Given the description of an element on the screen output the (x, y) to click on. 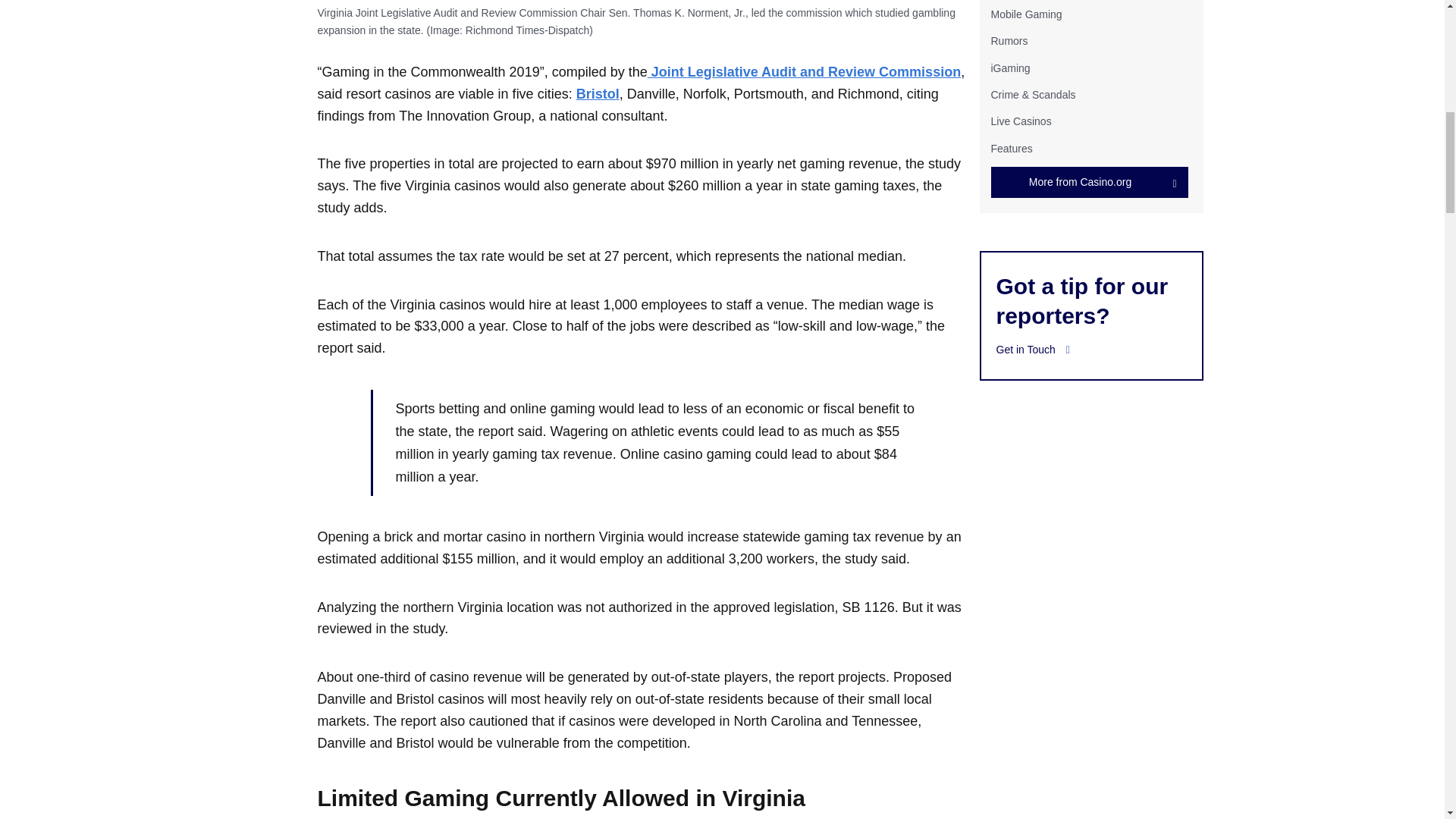
iGaming (1009, 68)
Rumors (1008, 40)
Mobile Gaming (1025, 14)
Bristol (598, 93)
Joint Legislative Audit and Review Commission (803, 71)
Live Casinos (1020, 121)
Features (1011, 148)
